Given the description of an element on the screen output the (x, y) to click on. 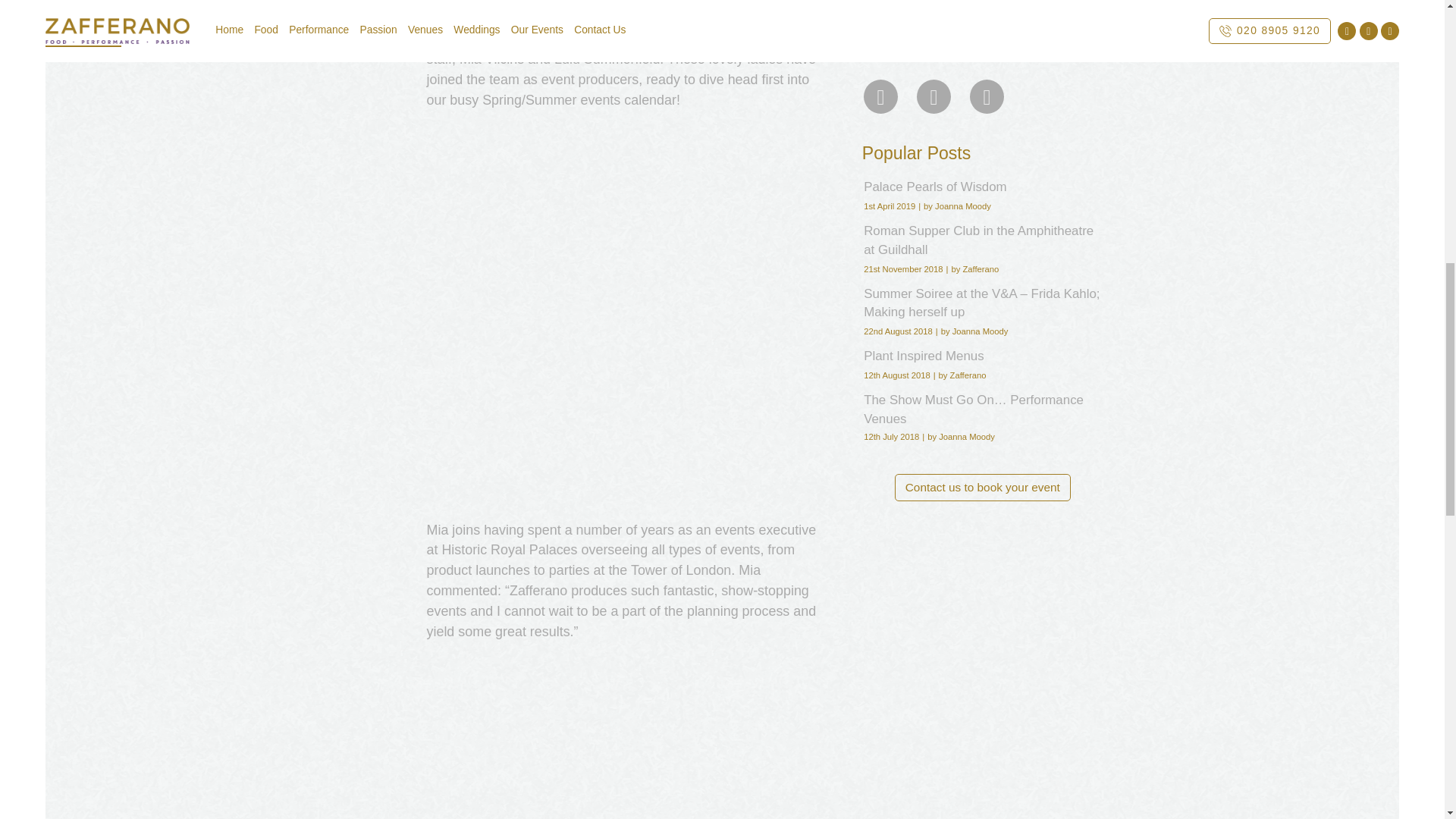
Contact us to book your event (982, 487)
Plant Inspired Menus (981, 356)
Roman Supper Club in the Amphitheatre at Guildhall (981, 239)
Zafferano (1068, 6)
Passion (925, 6)
Food (877, 6)
Palace Pearls of Wisdom (981, 187)
Performance (995, 6)
